Given the description of an element on the screen output the (x, y) to click on. 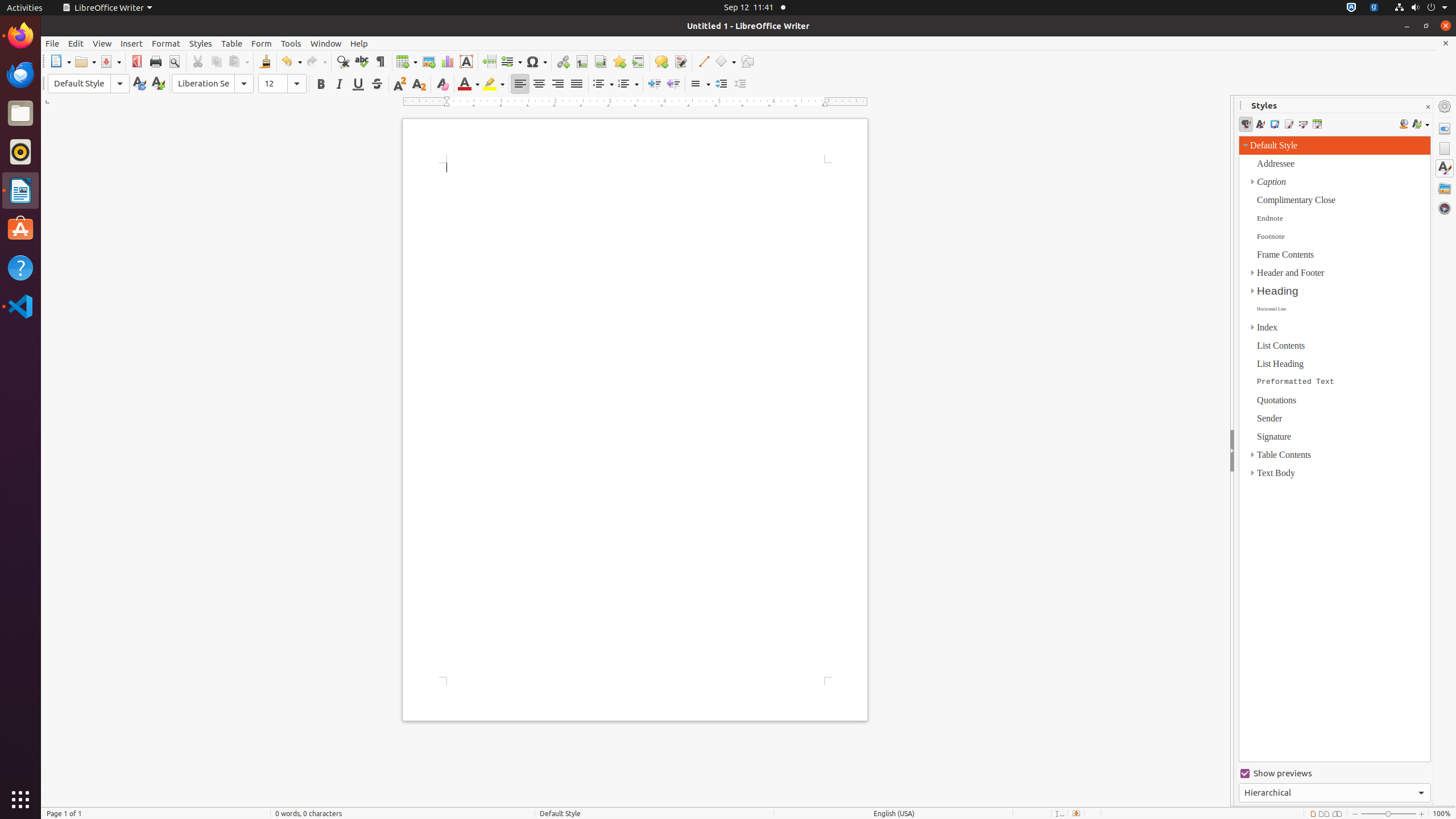
Files Element type: push-button (20, 113)
Font Size Element type: text (272, 83)
Form Element type: menu (261, 43)
Redo Element type: push-button (315, 61)
Font Name Element type: combo-box (212, 83)
